Given the description of an element on the screen output the (x, y) to click on. 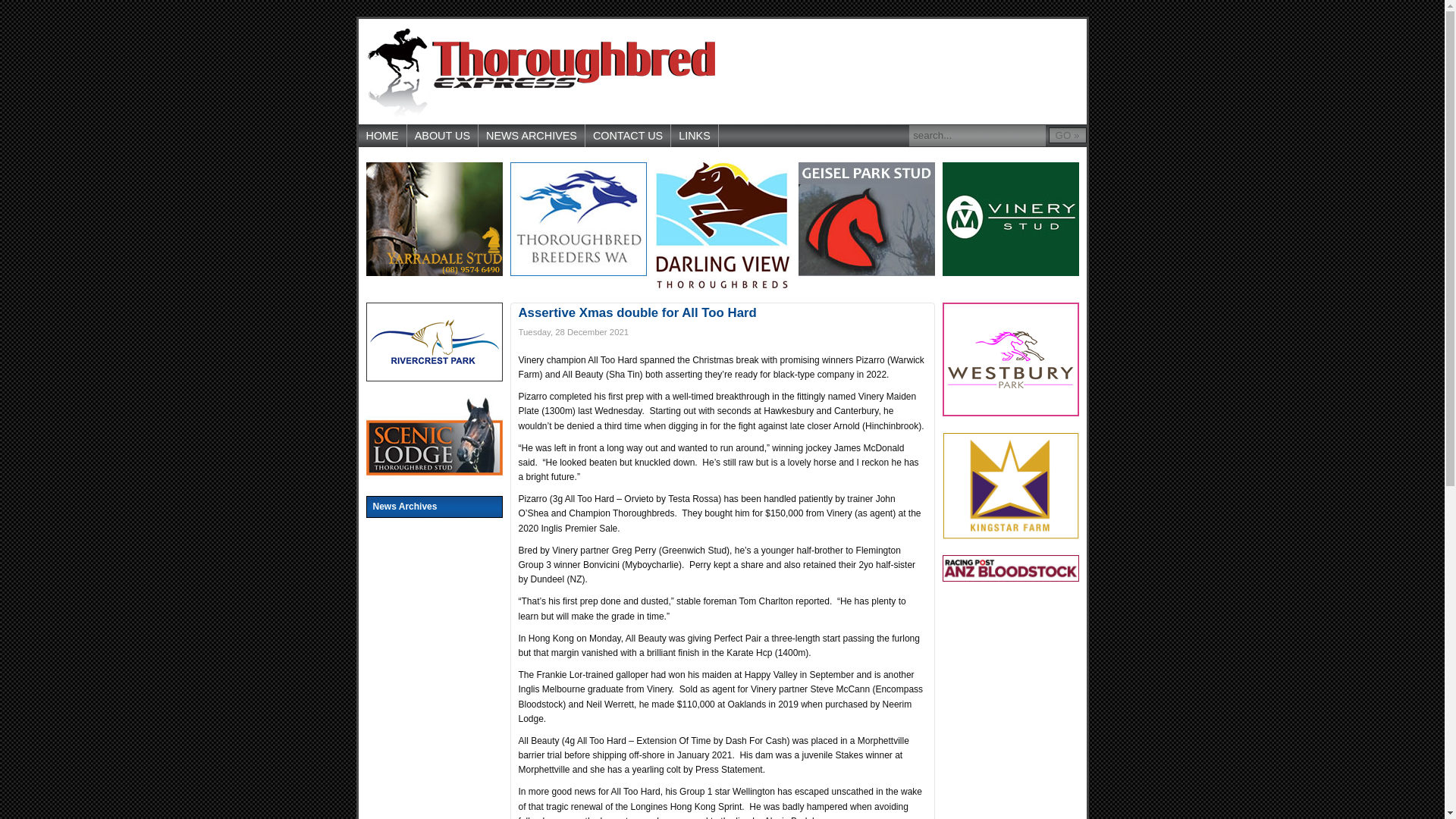
News Archives (433, 506)
CONTACT US (628, 135)
LINKS (695, 135)
ABOUT US (443, 135)
HOME (382, 135)
Thoroughbred Express (540, 71)
search... (976, 135)
NEWS ARCHIVES (532, 135)
Thoroughbred Express (540, 71)
